Given the description of an element on the screen output the (x, y) to click on. 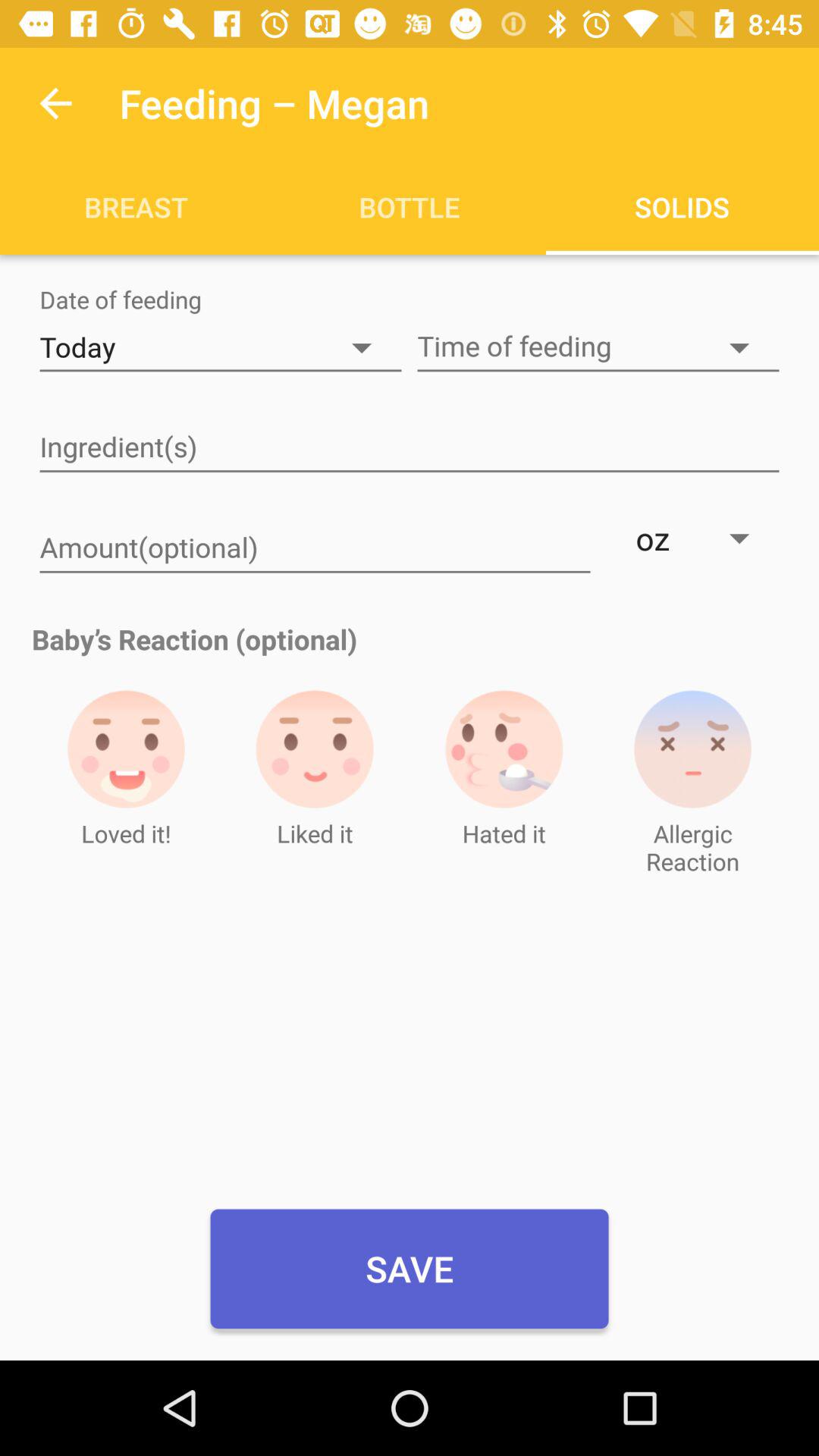
add ingredients (409, 447)
